Given the description of an element on the screen output the (x, y) to click on. 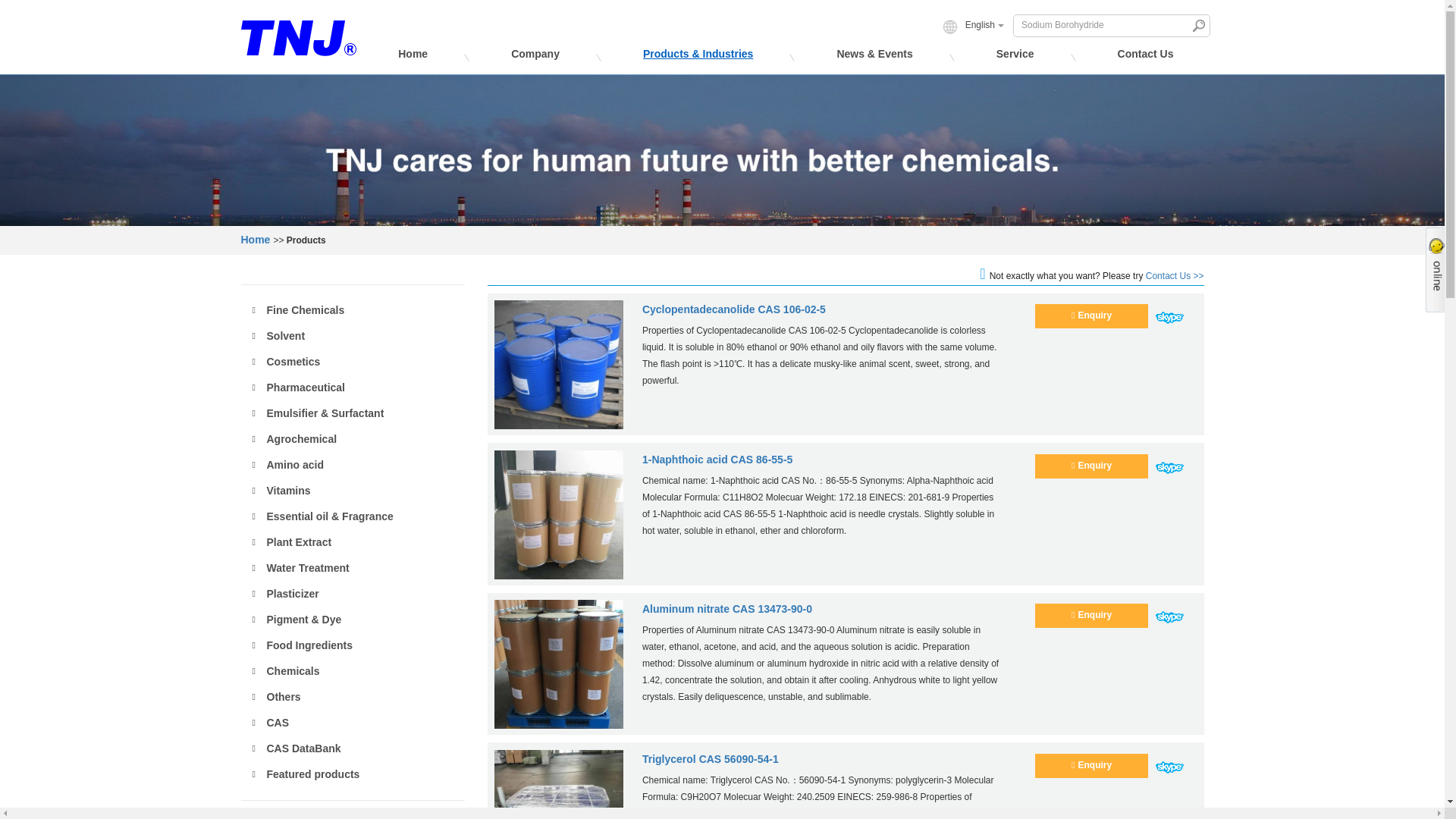
Company (534, 57)
Sodium Borohydride (1101, 25)
Sodium Borohydride (1101, 25)
Service (1015, 57)
Home (412, 57)
